Given the description of an element on the screen output the (x, y) to click on. 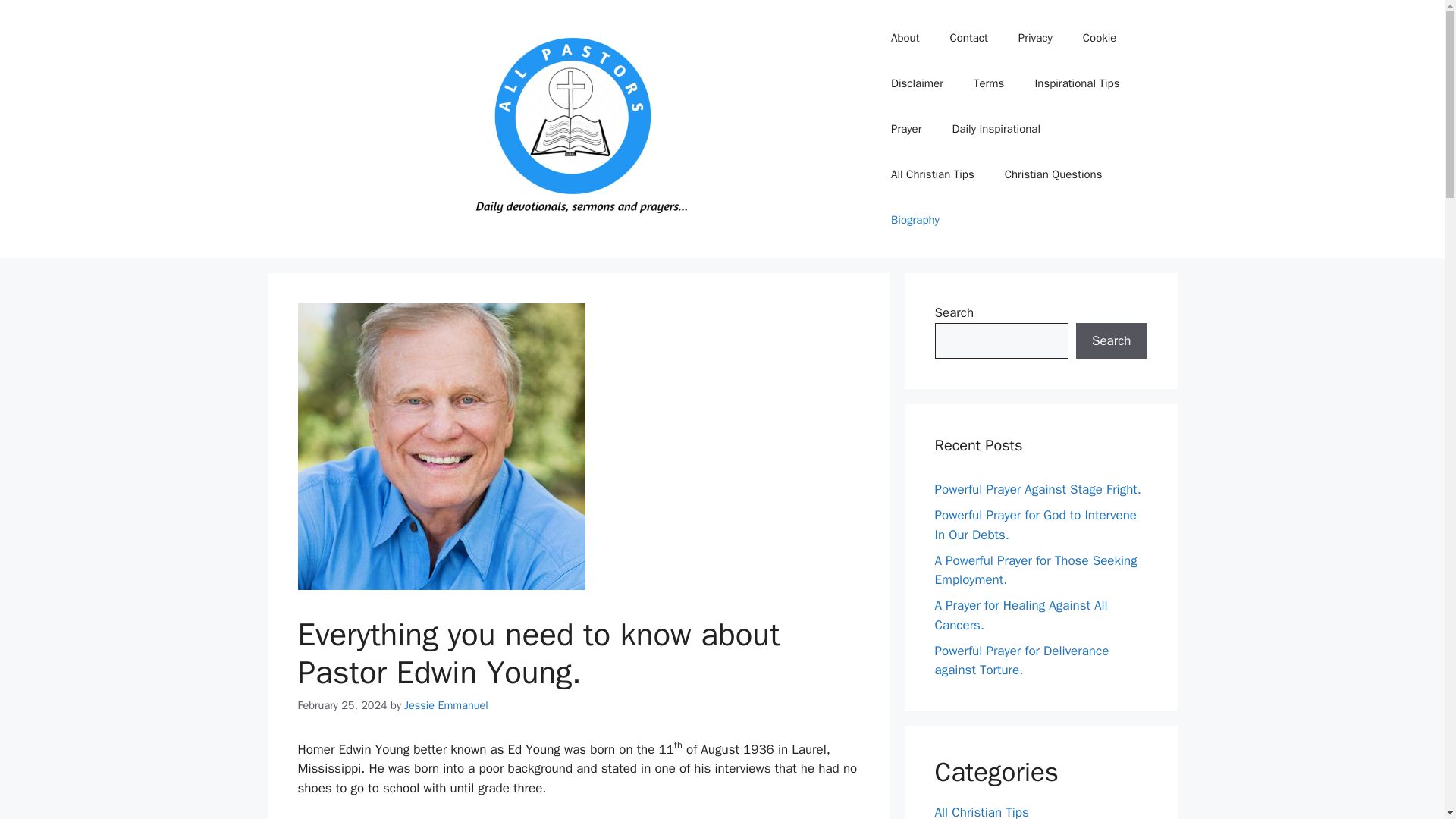
Prayer (906, 128)
Jessie Emmanuel (445, 704)
Terms (988, 83)
Disclaimer (917, 83)
Biography (915, 219)
View all posts by Jessie Emmanuel (445, 704)
Inspirational Tips (1076, 83)
Privacy (1035, 37)
Powerful Prayer for God to Intervene In Our Debts. (1035, 524)
All Christian Tips (980, 811)
A Powerful Prayer for Those Seeking Employment. (1035, 570)
Daily Inspirational (997, 128)
All Christian Tips (933, 174)
Powerful Prayer for Deliverance against Torture. (1021, 660)
Cookie (1099, 37)
